Given the description of an element on the screen output the (x, y) to click on. 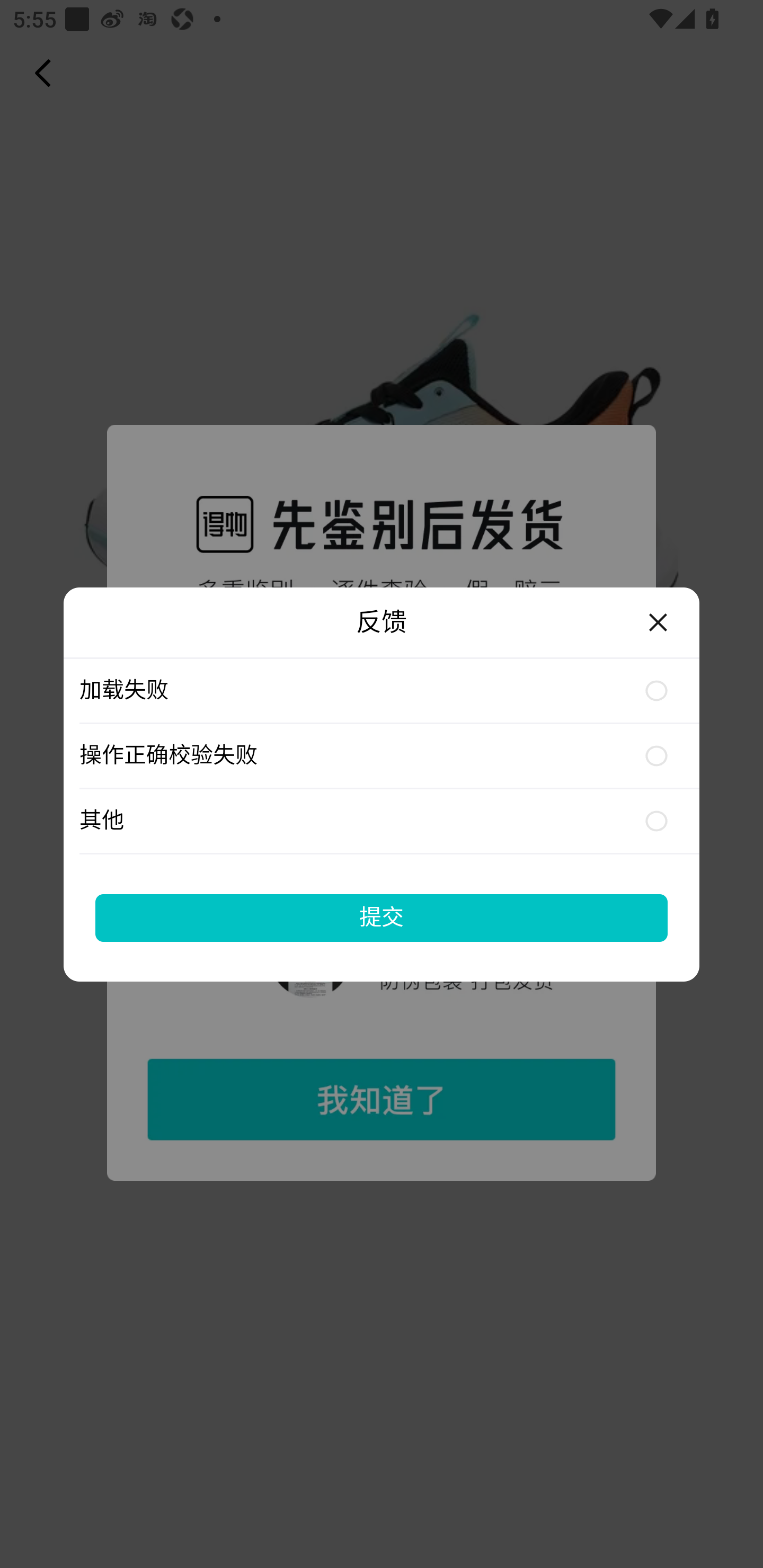
提交 (381, 917)
